Given the description of an element on the screen output the (x, y) to click on. 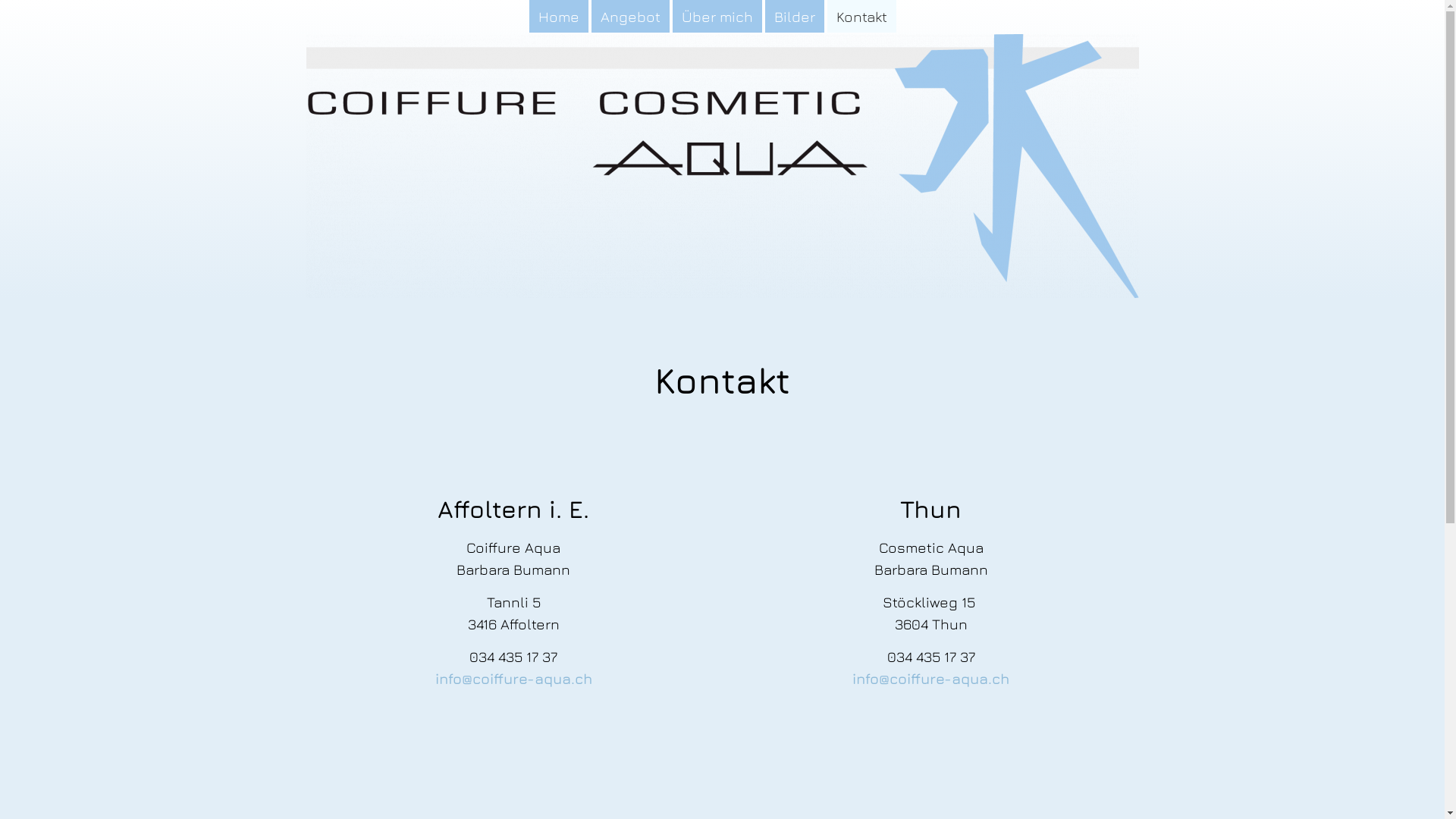
info@coiffure-aqua.ch Element type: text (513, 678)
info@coiffure-aqua.ch Element type: text (930, 678)
Kontakt Element type: text (860, 16)
Home Element type: text (558, 16)
Bilder Element type: text (793, 16)
Angebot Element type: text (630, 16)
